Given the description of an element on the screen output the (x, y) to click on. 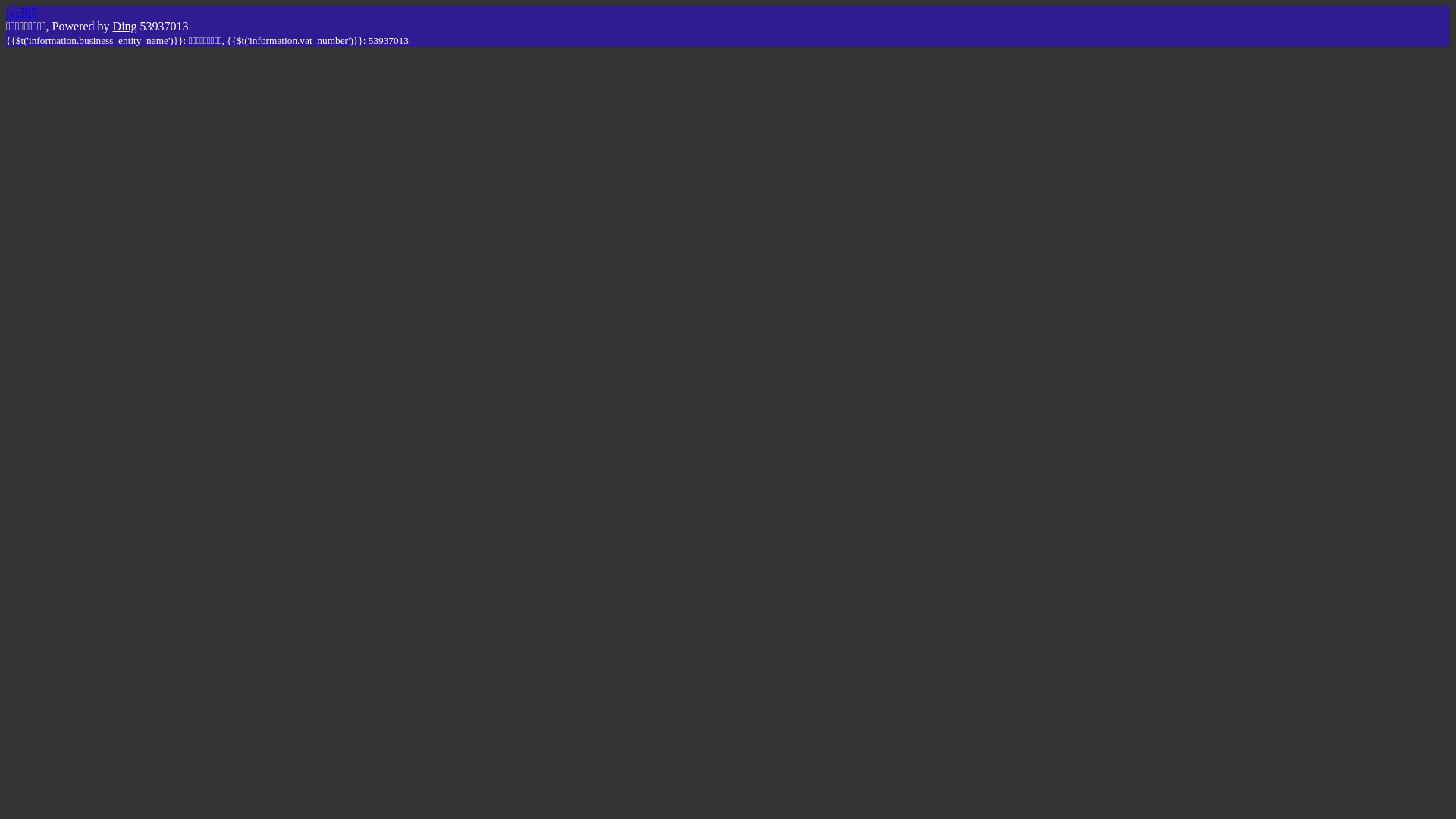
jyt307 Element type: text (21, 12)
Ding Element type: text (124, 25)
